Given the description of an element on the screen output the (x, y) to click on. 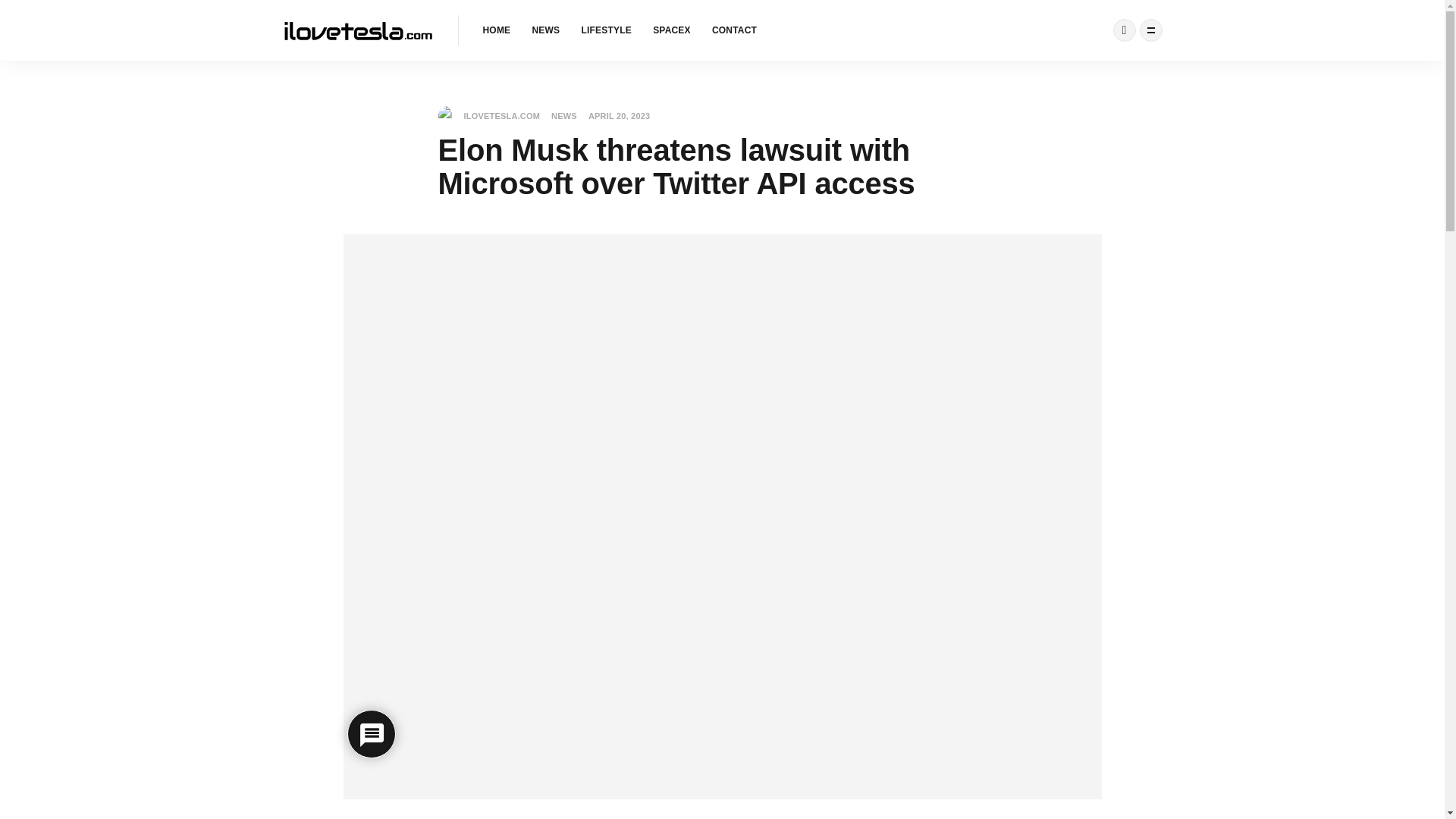
ILOVETESLA.COM (489, 116)
APRIL 20, 2023 (618, 115)
NEWS (563, 116)
